Given the description of an element on the screen output the (x, y) to click on. 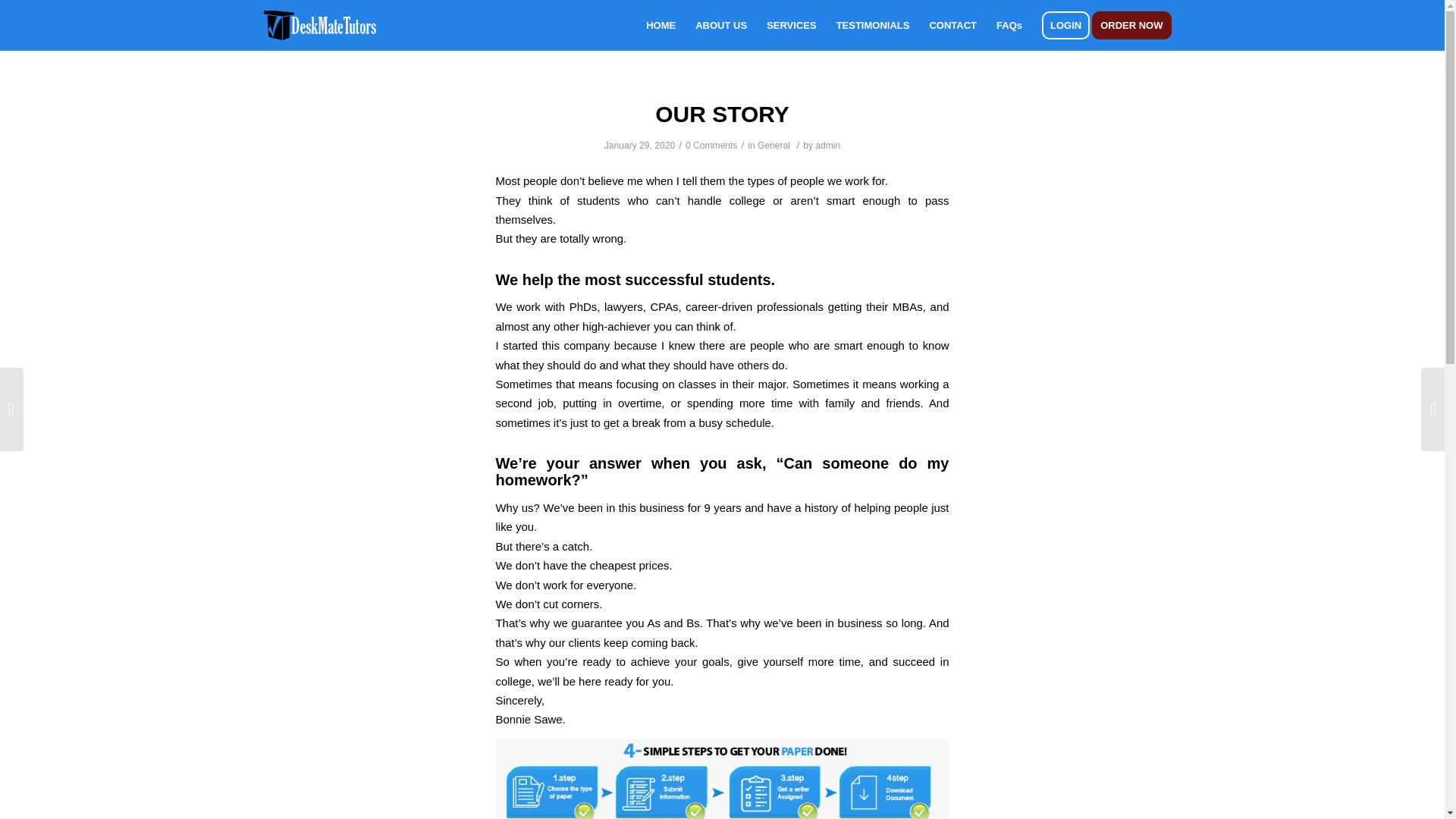
LOGIN (1065, 24)
Posts by admin (827, 145)
admin (827, 145)
ORDER NOW (1136, 24)
SERVICES (792, 24)
FAQs (1009, 24)
General (773, 145)
OUR STORY (722, 113)
Permanent Link: OUR STORY (722, 113)
TESTIMONIALS (873, 24)
0 Comments (711, 145)
HOME (660, 24)
ABOUT US (721, 24)
CONTACT (952, 24)
